Given the description of an element on the screen output the (x, y) to click on. 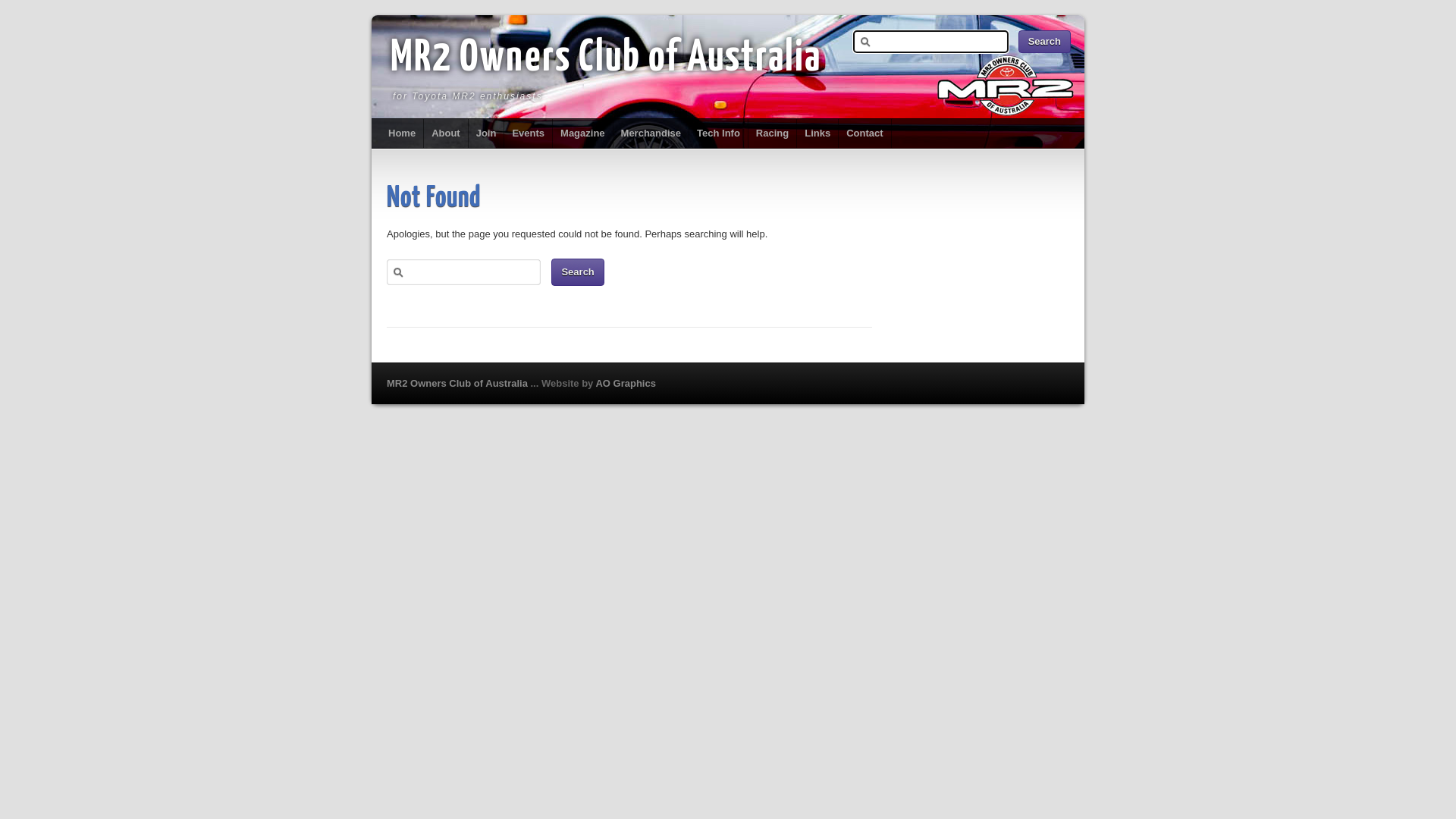
Links Element type: text (817, 133)
AO Graphics Element type: text (625, 383)
Racing Element type: text (772, 133)
Join Element type: text (486, 133)
Merchandise Element type: text (651, 133)
About Element type: text (445, 133)
Search Element type: text (577, 271)
Events Element type: text (528, 133)
Search Element type: text (1044, 41)
Tech Info Element type: text (718, 133)
MR2 Owners Club of Australia Element type: text (605, 58)
Magazine Element type: text (582, 133)
Contact Element type: text (864, 133)
MR2 Owners Club of Australia Element type: text (458, 383)
Home Element type: text (401, 133)
